Given the description of an element on the screen output the (x, y) to click on. 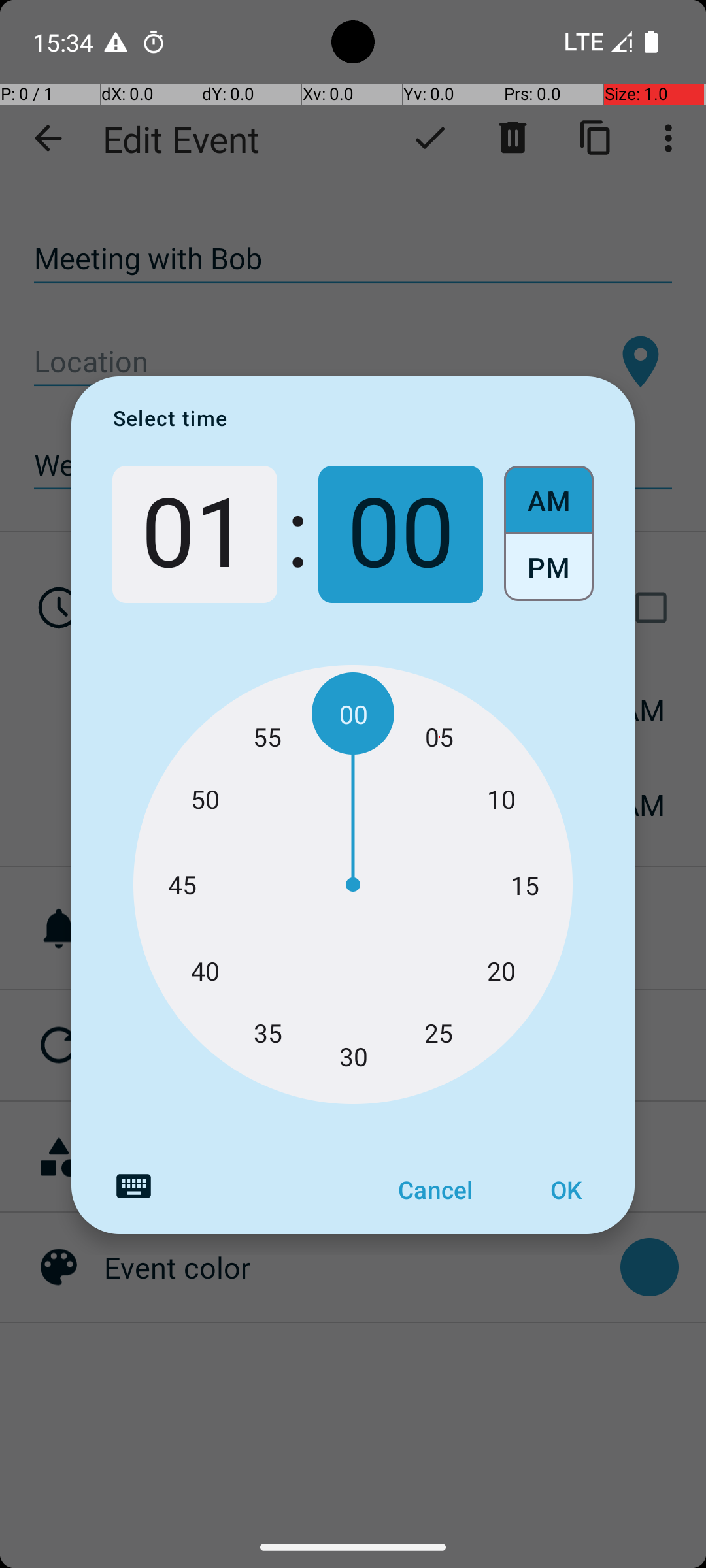
01 Element type: android.view.View (194, 534)
Select AM or PM Element type: android.widget.LinearLayout (548, 534)
05 Element type: android.widget.TextView (439, 736)
